Given the description of an element on the screen output the (x, y) to click on. 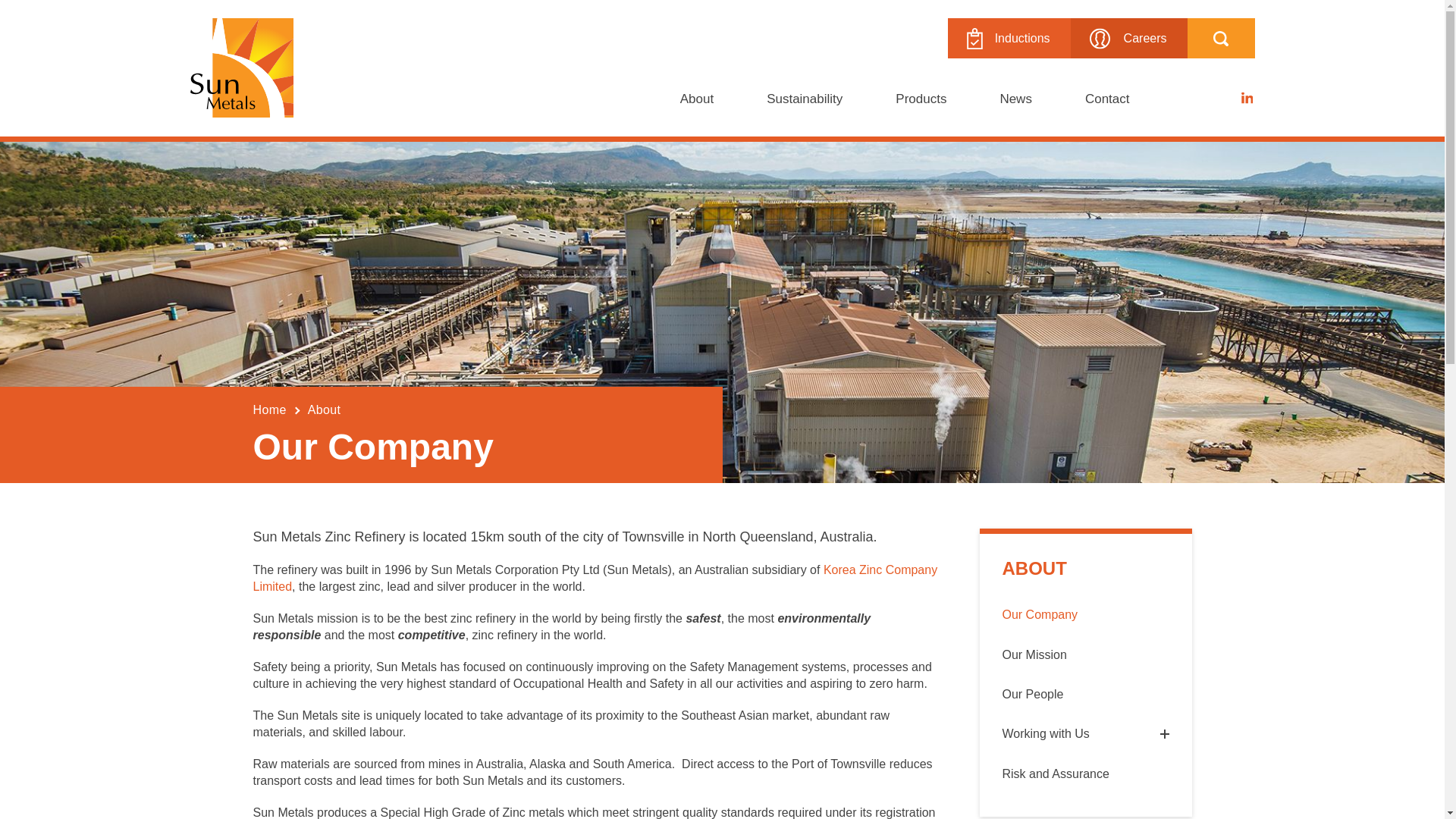
Inductions (1008, 38)
Home (269, 410)
About (696, 99)
News (1015, 99)
Careers (1129, 38)
Products (920, 99)
Sustainability (804, 99)
LinkedIn (1246, 97)
Products (920, 99)
About (696, 99)
News (1015, 99)
About (323, 410)
Sustainability (804, 99)
Contact (1107, 99)
